Given the description of an element on the screen output the (x, y) to click on. 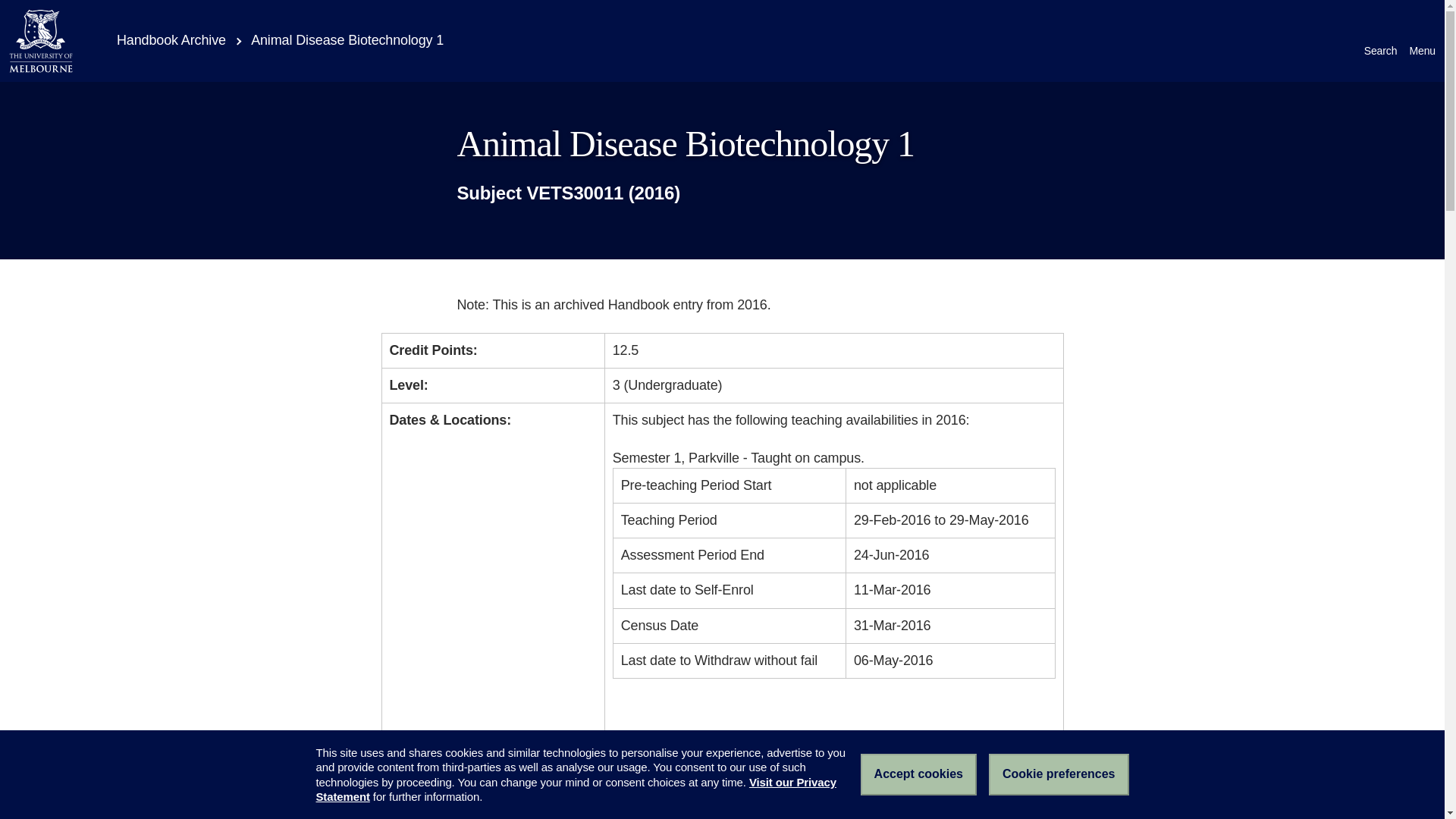
here (778, 743)
Animal Disease Biotechnology 1 (347, 39)
Search (1380, 40)
Animal Disease Biotechnology 1 (347, 39)
Handbook Archive (161, 39)
Search (1380, 40)
Handbook Archive (161, 39)
here (626, 762)
